Given the description of an element on the screen output the (x, y) to click on. 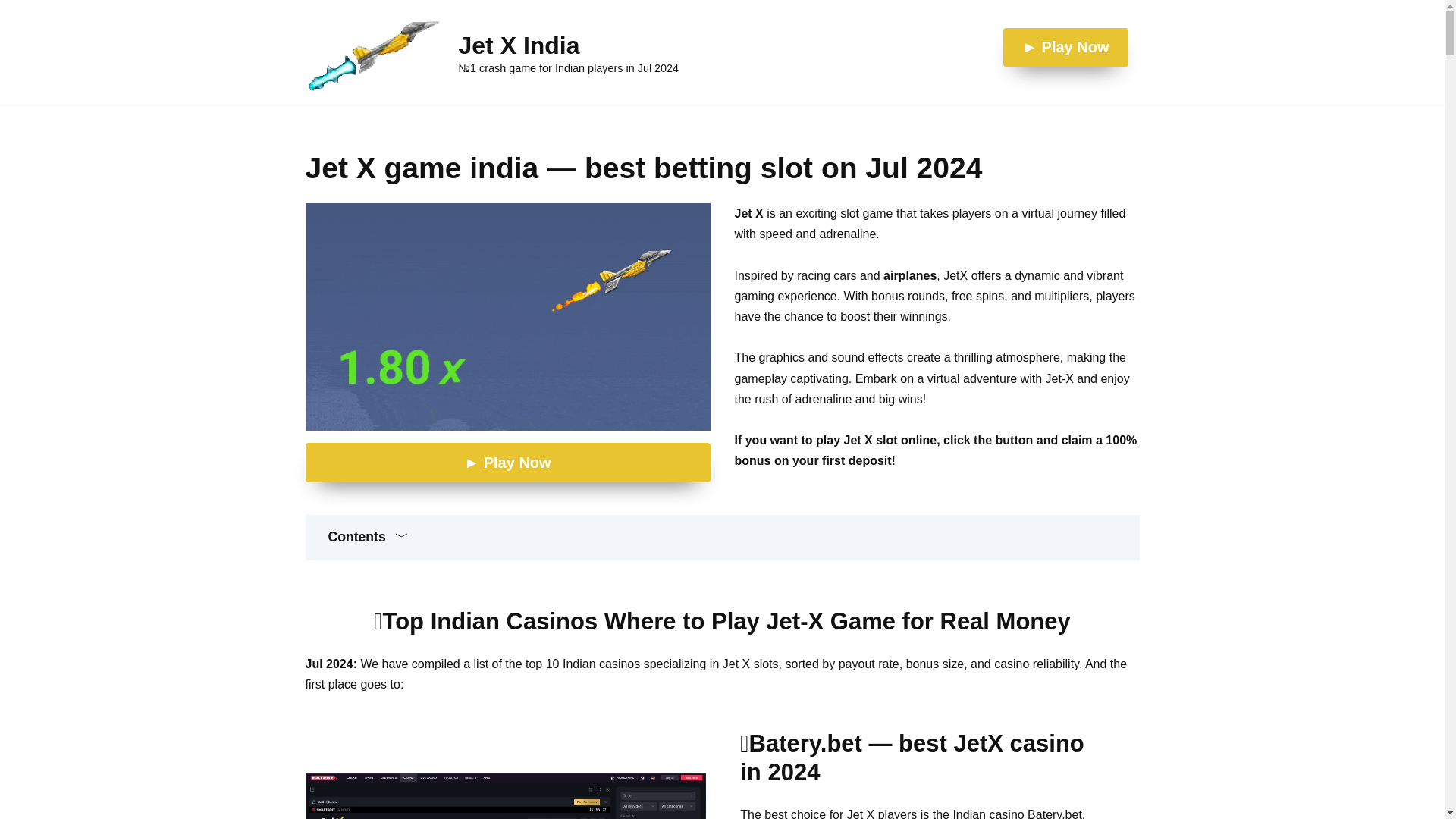
JETX: PLAY NOW (507, 316)
